Given the description of an element on the screen output the (x, y) to click on. 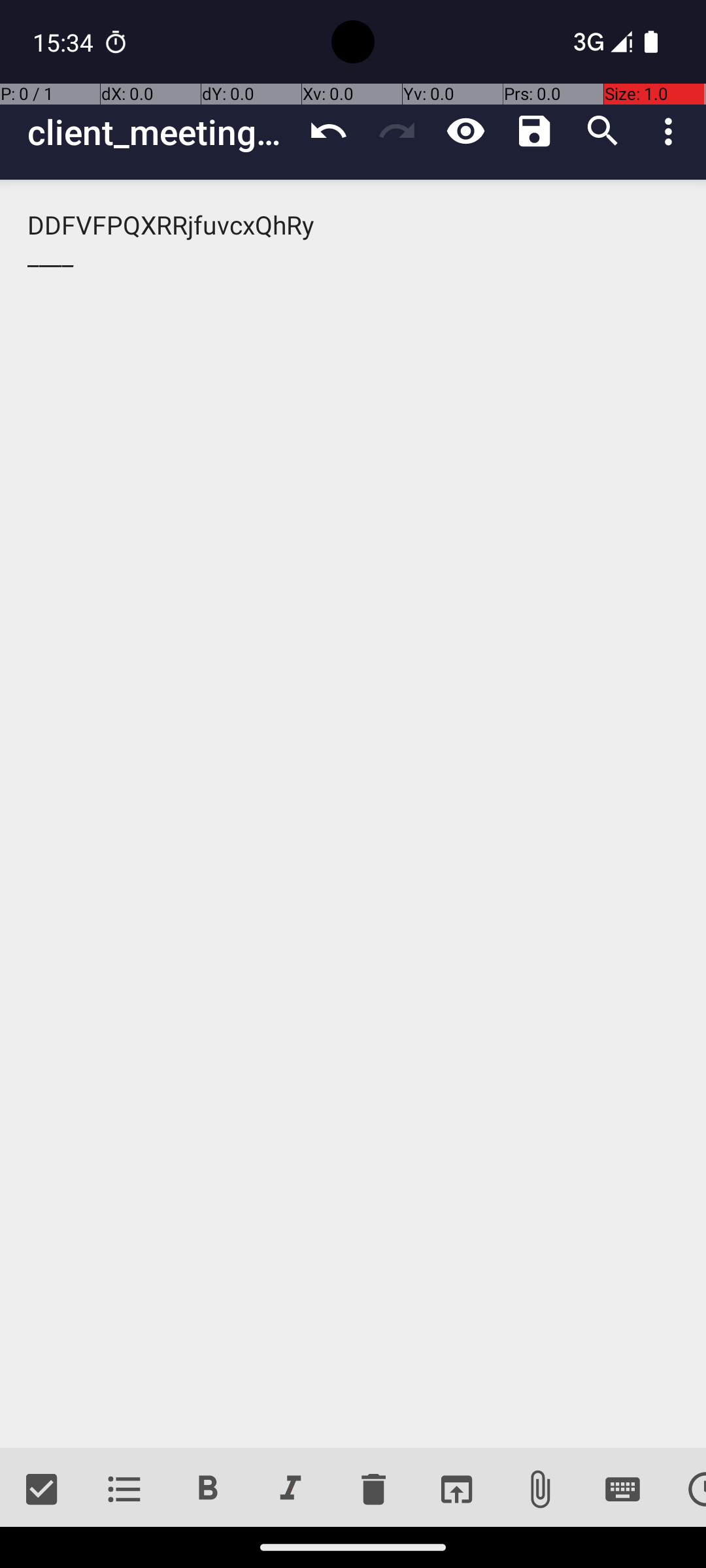
client_meetings_schedule_backup Element type: android.widget.TextView (160, 131)
DDFVFPQXRRjfuvcxQhRy
____ Element type: android.widget.EditText (353, 813)
